Given the description of an element on the screen output the (x, y) to click on. 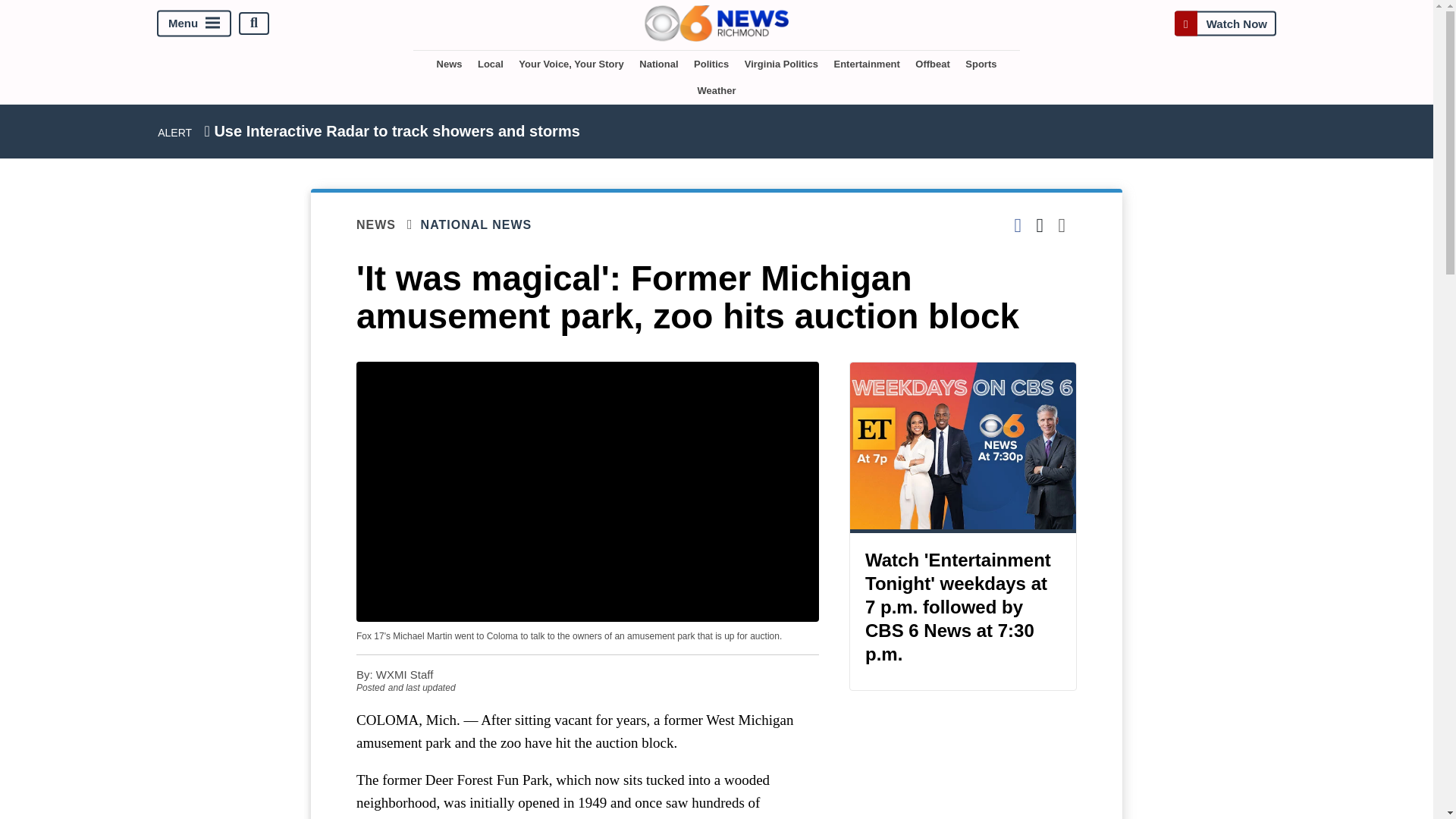
Menu (194, 22)
Watch Now (1224, 22)
